Given the description of an element on the screen output the (x, y) to click on. 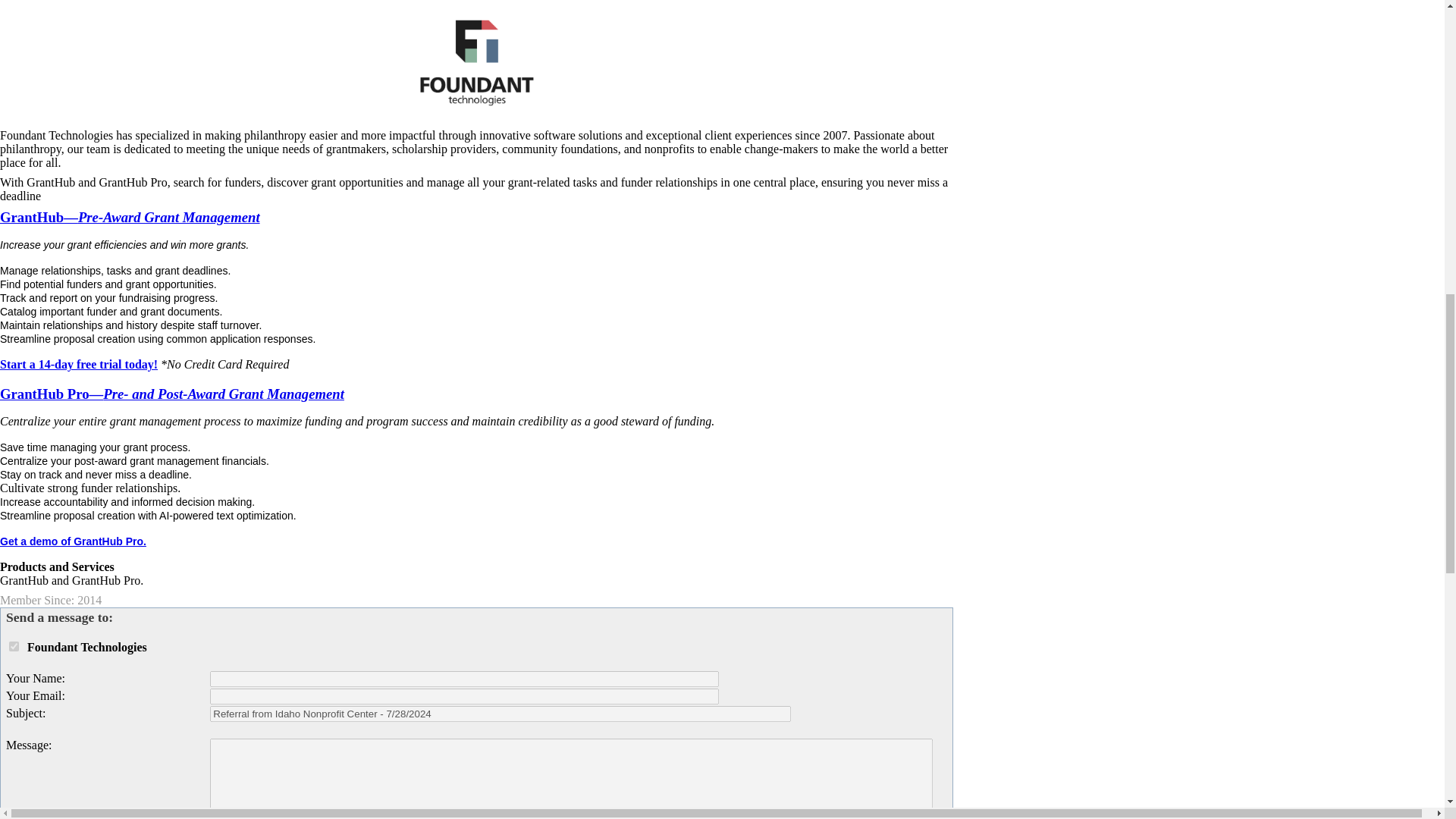
You cannot change the Email Subject (499, 713)
on (13, 646)
